Given the description of an element on the screen output the (x, y) to click on. 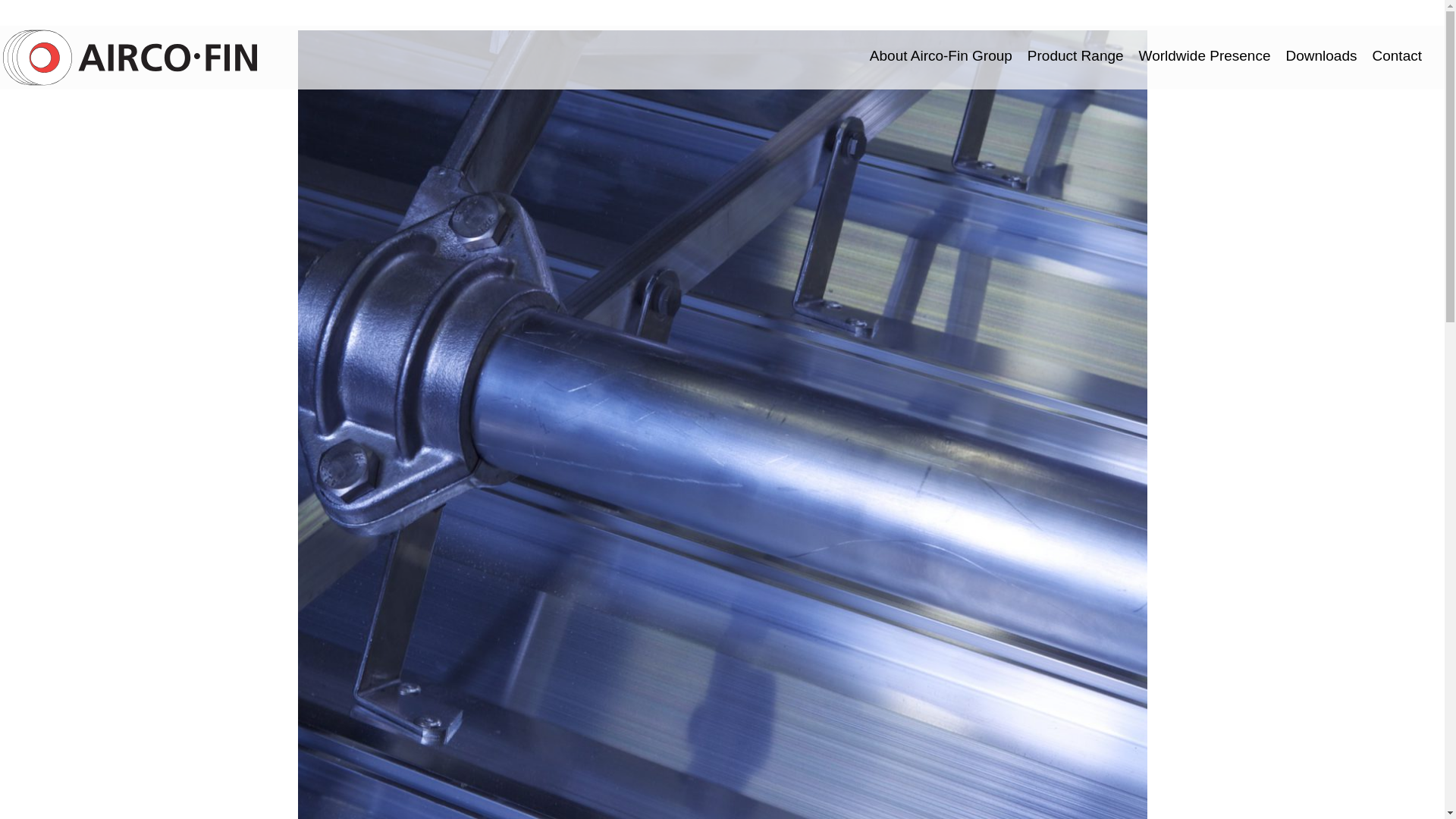
German (1333, 13)
Arabic (1425, 13)
French (1311, 13)
Italian (1357, 13)
Contact (1397, 55)
Downloads (1321, 55)
Worldwide Presence (1204, 55)
Product Range (1075, 55)
About Airco-Fin Group (940, 55)
Portuguese (1402, 13)
English (1288, 13)
Spanish (1380, 13)
